Given the description of an element on the screen output the (x, y) to click on. 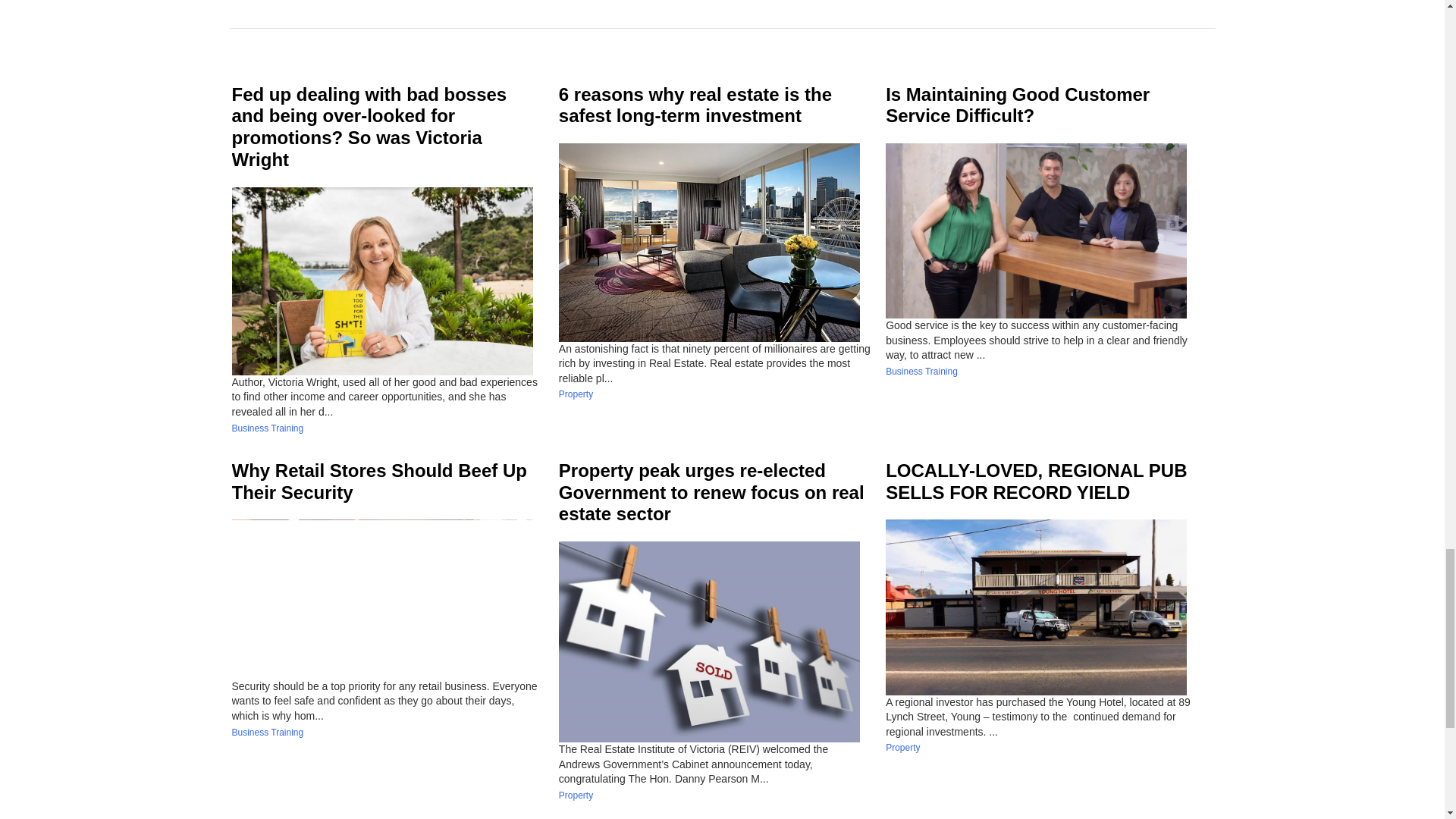
6 reasons why real estate is the safest long-term investment (695, 105)
Is Maintaining Good Customer Service Difficult? (1017, 105)
Business Training (267, 428)
LOCALLY-LOVED, REGIONAL PUB SELLS FOR RECORD YIELD (1035, 481)
Property (575, 394)
Why Retail Stores Should Beef Up Their Security (379, 481)
Why Retail Stores Should Beef Up Their Security (379, 481)
Business Training (921, 371)
Business Training (267, 732)
Is Maintaining Good Customer Service Difficult? (1017, 105)
6 reasons why real estate is the safest long-term investment (695, 105)
